Given the description of an element on the screen output the (x, y) to click on. 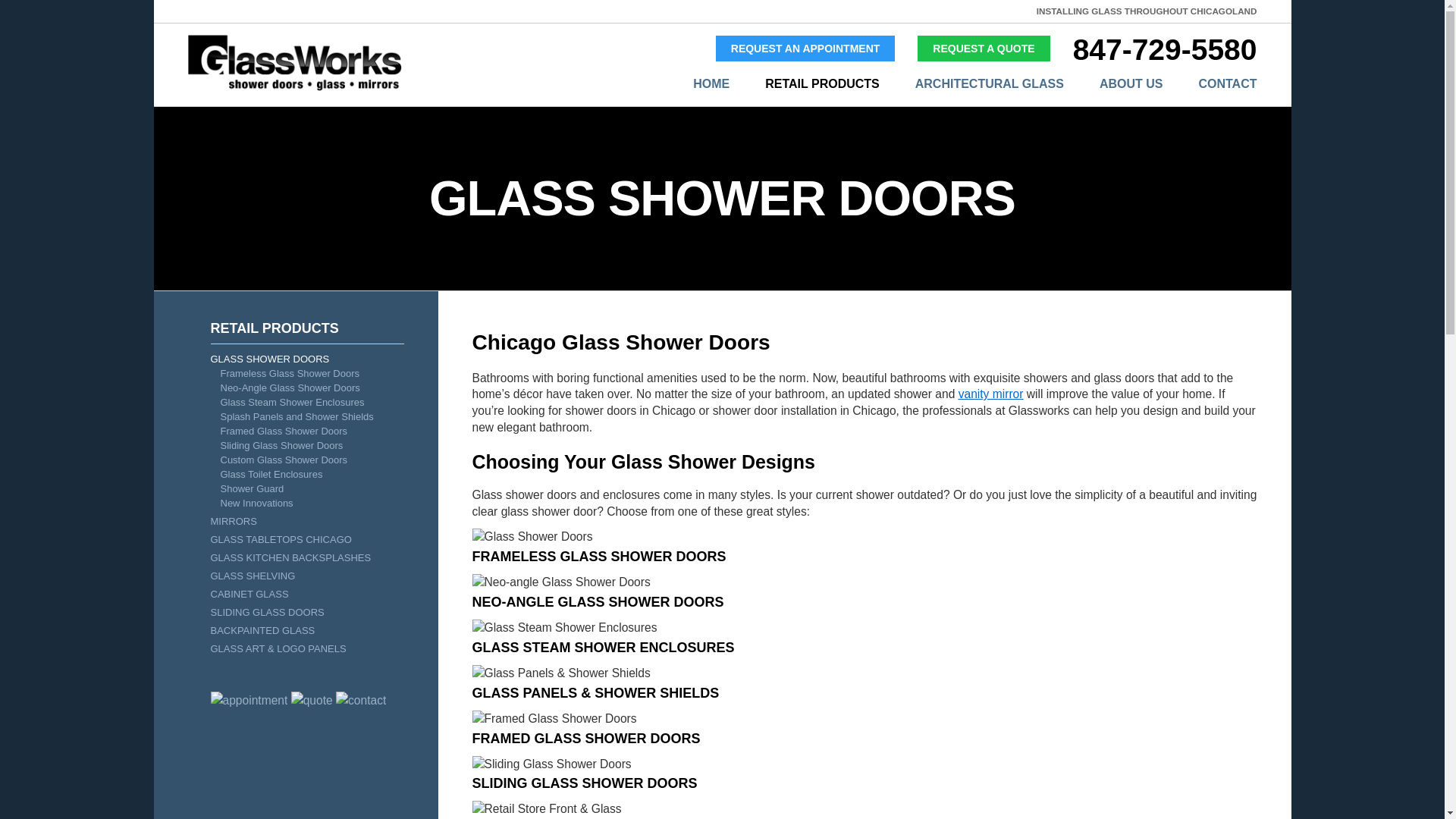
RETAIL PRODUCTS (804, 84)
GlassWorks (294, 87)
CONTACT (1208, 84)
REQUEST AN APPOINTMENT (805, 48)
GlassWorks (983, 48)
HOME (693, 84)
REQUEST A QUOTE (983, 48)
ABOUT US (1113, 84)
ARCHITECTURAL GLASS (971, 84)
GlassWorks (805, 48)
